Given the description of an element on the screen output the (x, y) to click on. 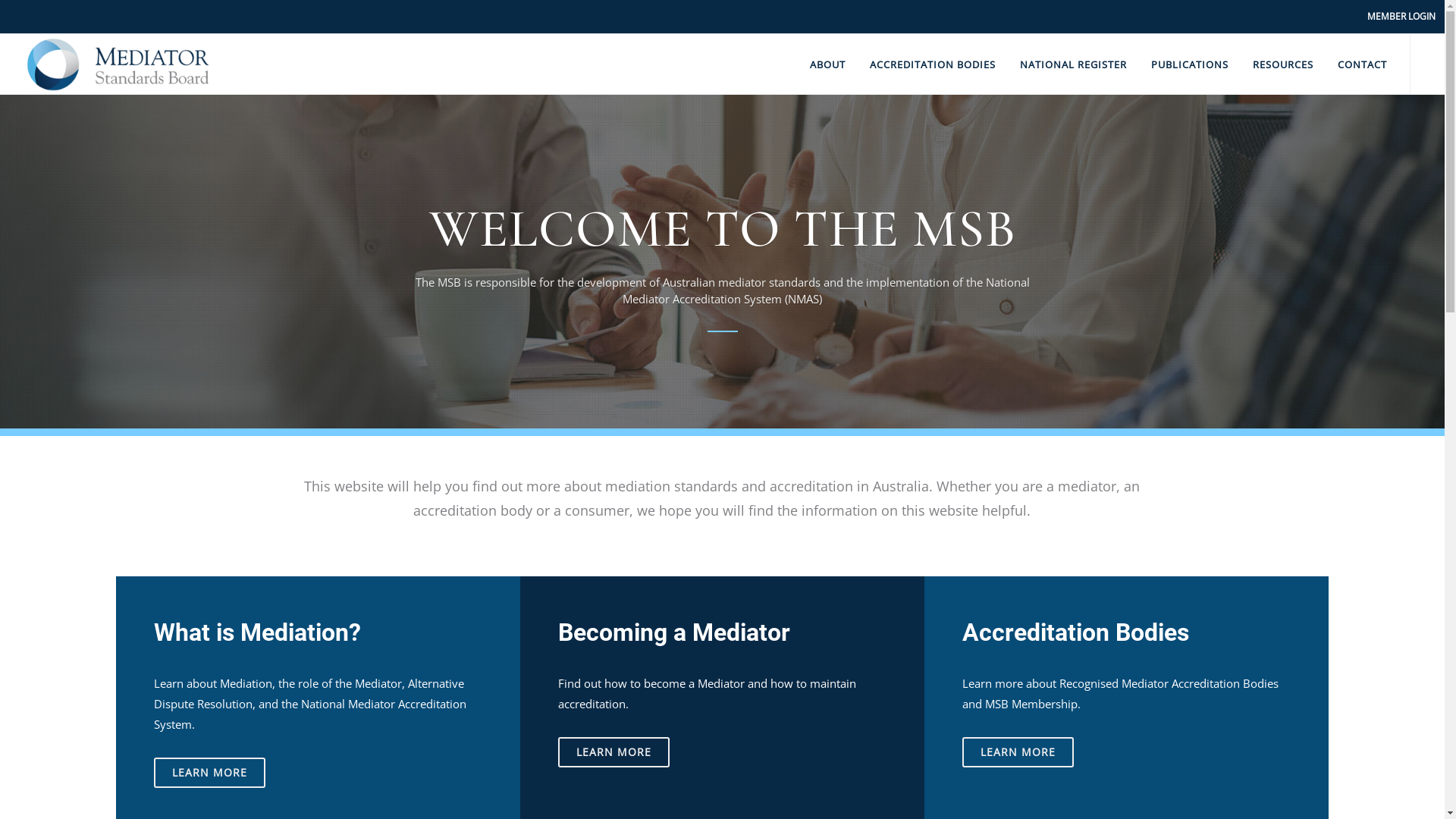
NATIONAL REGISTER Element type: text (1073, 64)
LEARN MORE Element type: text (208, 772)
LEARN MORE Element type: text (1017, 752)
MEMBER LOGIN Element type: text (1401, 16)
LEARN MORE Element type: text (613, 752)
ACCREDITATION BODIES Element type: text (932, 64)
CONTACT Element type: text (1362, 64)
